Given the description of an element on the screen output the (x, y) to click on. 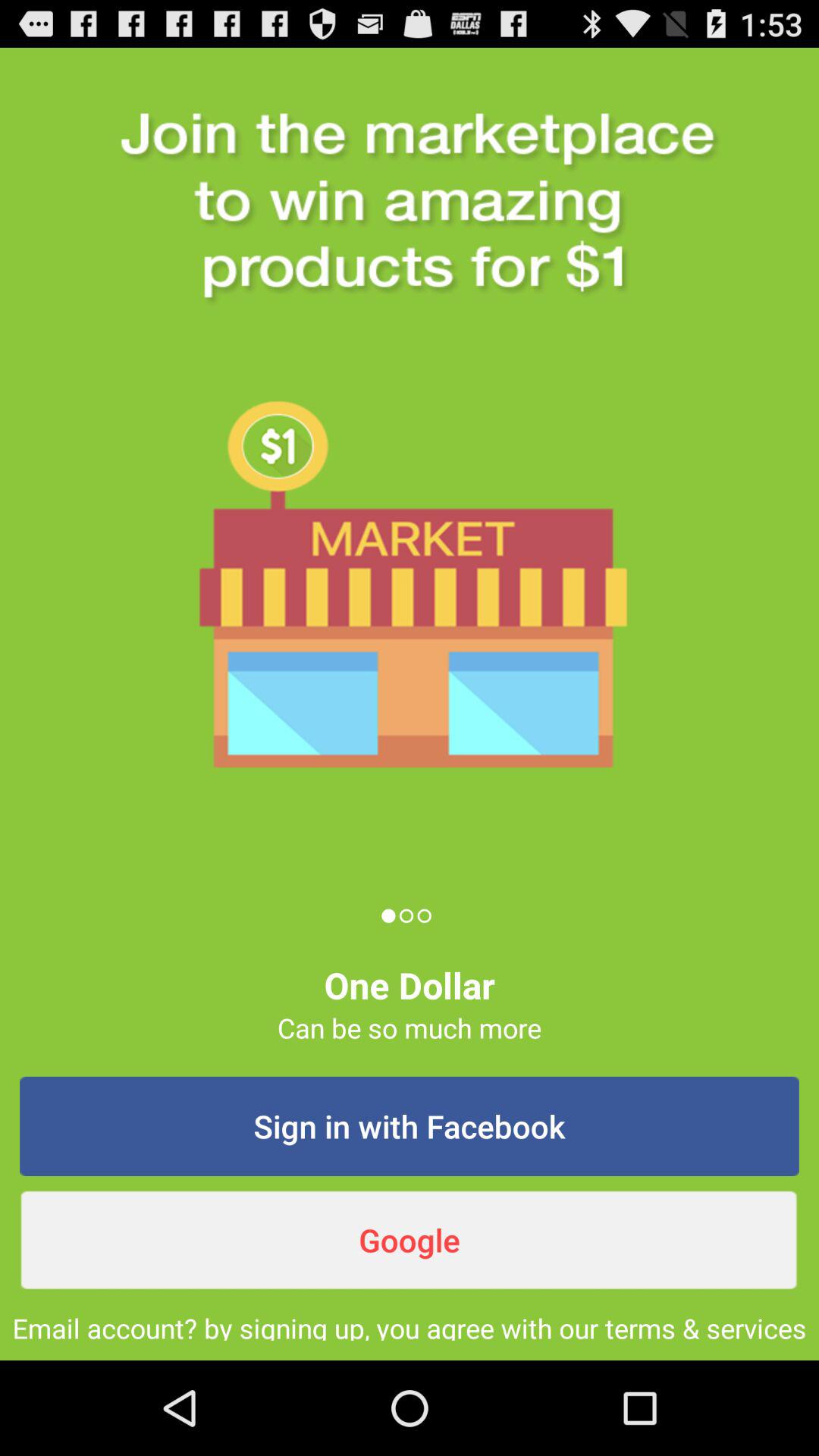
open item below can be so (409, 1126)
